Given the description of an element on the screen output the (x, y) to click on. 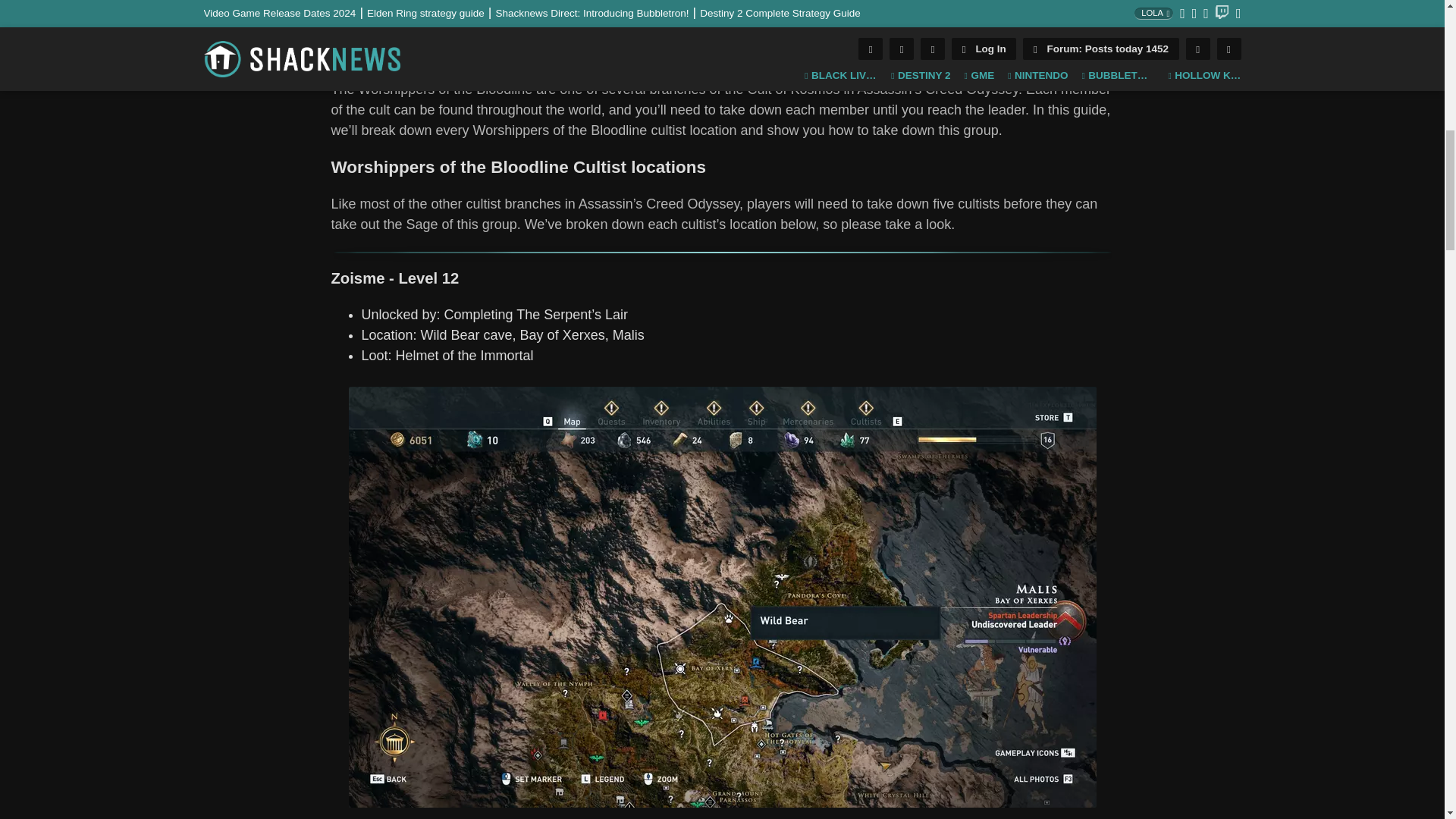
Josh Hawkins (340, 23)
